Given the description of an element on the screen output the (x, y) to click on. 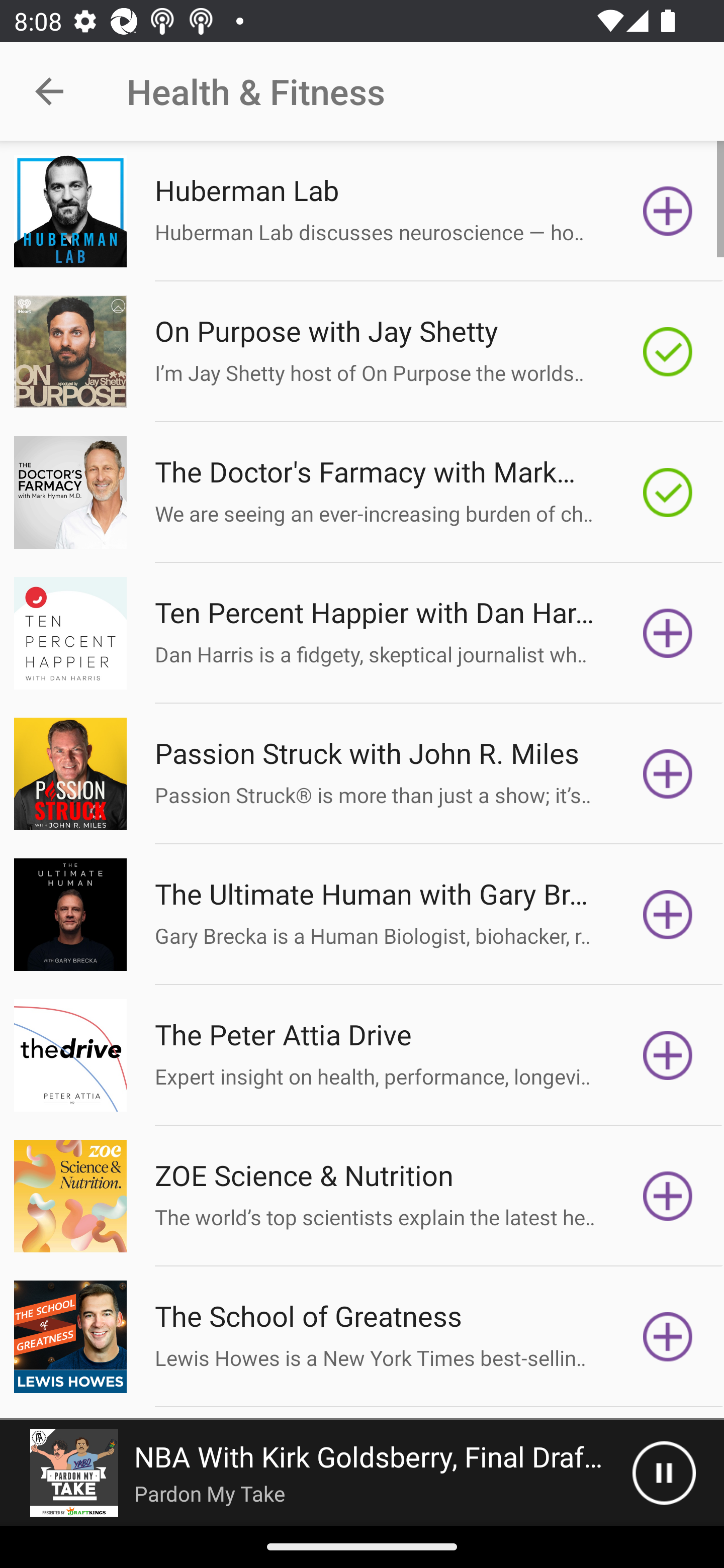
Navigate up (49, 91)
Subscribe (667, 211)
Subscribed (667, 350)
Subscribed (667, 491)
Subscribe (667, 633)
Subscribe (667, 773)
Subscribe (667, 913)
Subscribe (667, 1054)
Subscribe (667, 1195)
Subscribe (667, 1336)
Pause (663, 1472)
